Given the description of an element on the screen output the (x, y) to click on. 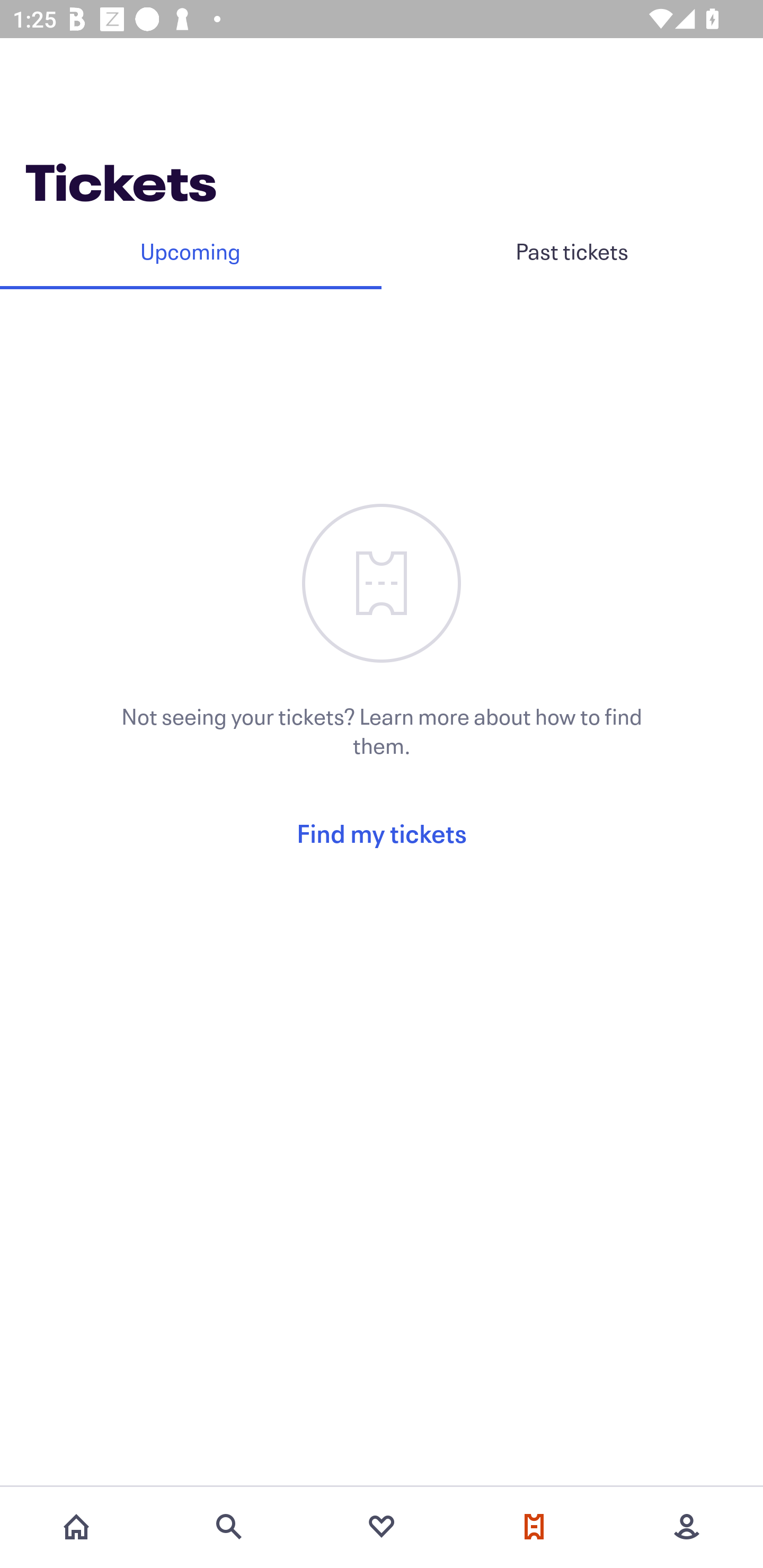
Past tickets (572, 250)
Find my tickets (381, 833)
Home (76, 1526)
Search events (228, 1526)
Favorites (381, 1526)
Tickets (533, 1526)
More (686, 1526)
